Given the description of an element on the screen output the (x, y) to click on. 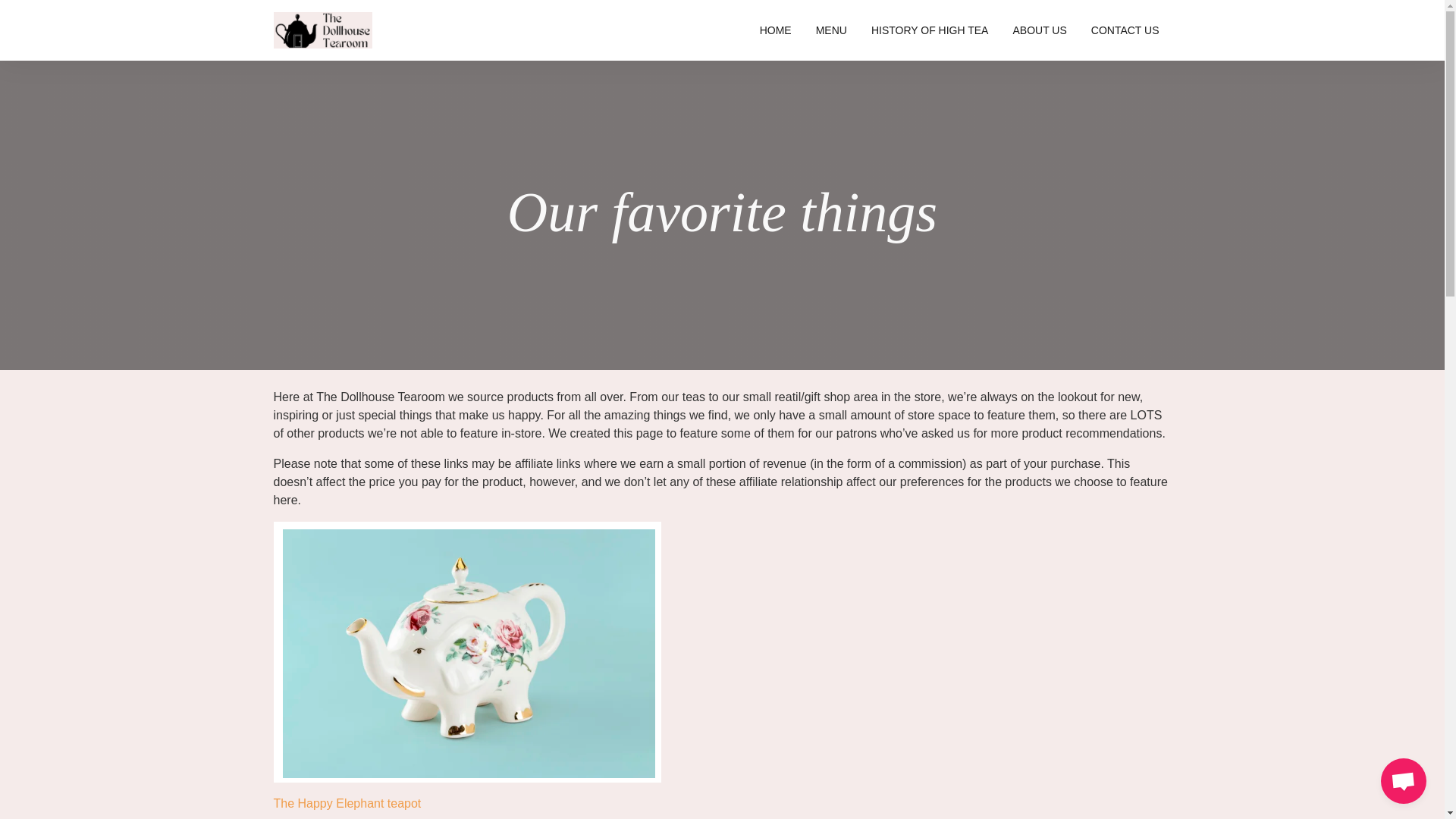
HISTORY OF HIGH TEA (930, 30)
ABOUT US (1039, 30)
HOME (775, 30)
CONTACT US (1125, 30)
MENU (831, 30)
The Happy Elephant teapot (346, 802)
